Given the description of an element on the screen output the (x, y) to click on. 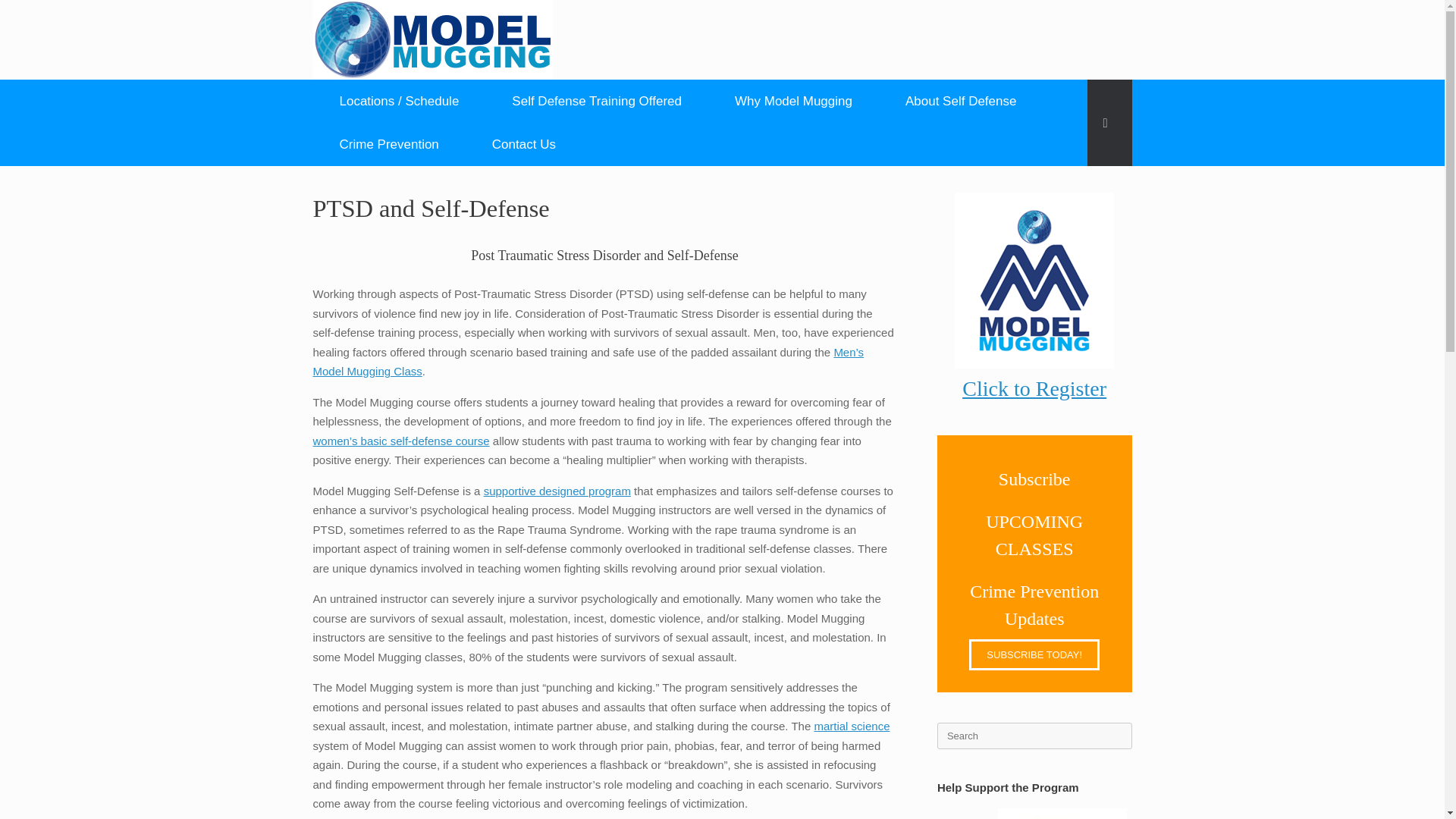
Supportive Designed Self Defense Program (556, 490)
Self Defense Training Offered (595, 100)
Basic Self-Defense Course for Women (401, 440)
Why Model Mugging (793, 100)
Model Mugging Self Defense (432, 39)
Martial Science (851, 725)
